Given the description of an element on the screen output the (x, y) to click on. 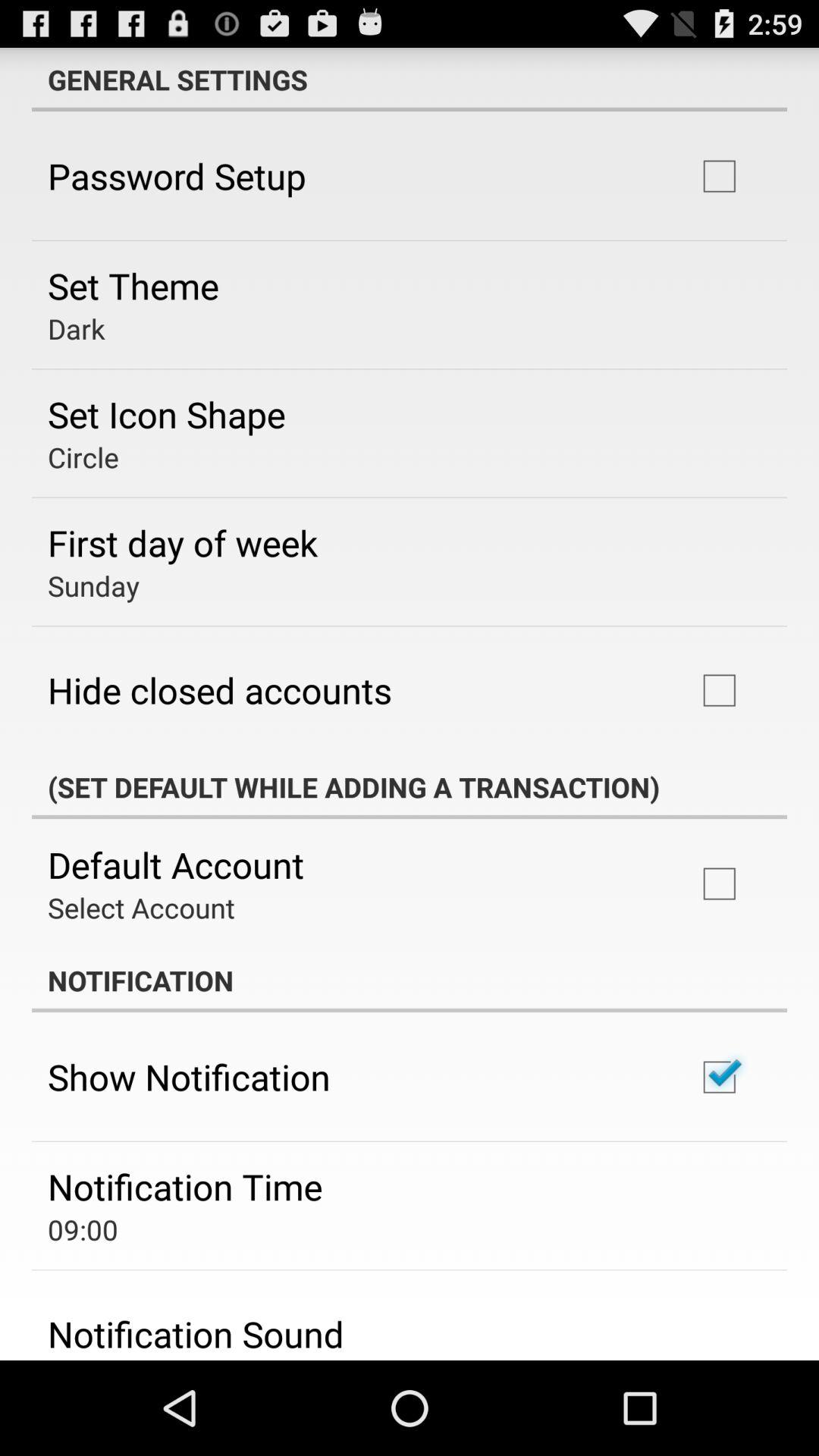
launch the notification sound item (195, 1333)
